Given the description of an element on the screen output the (x, y) to click on. 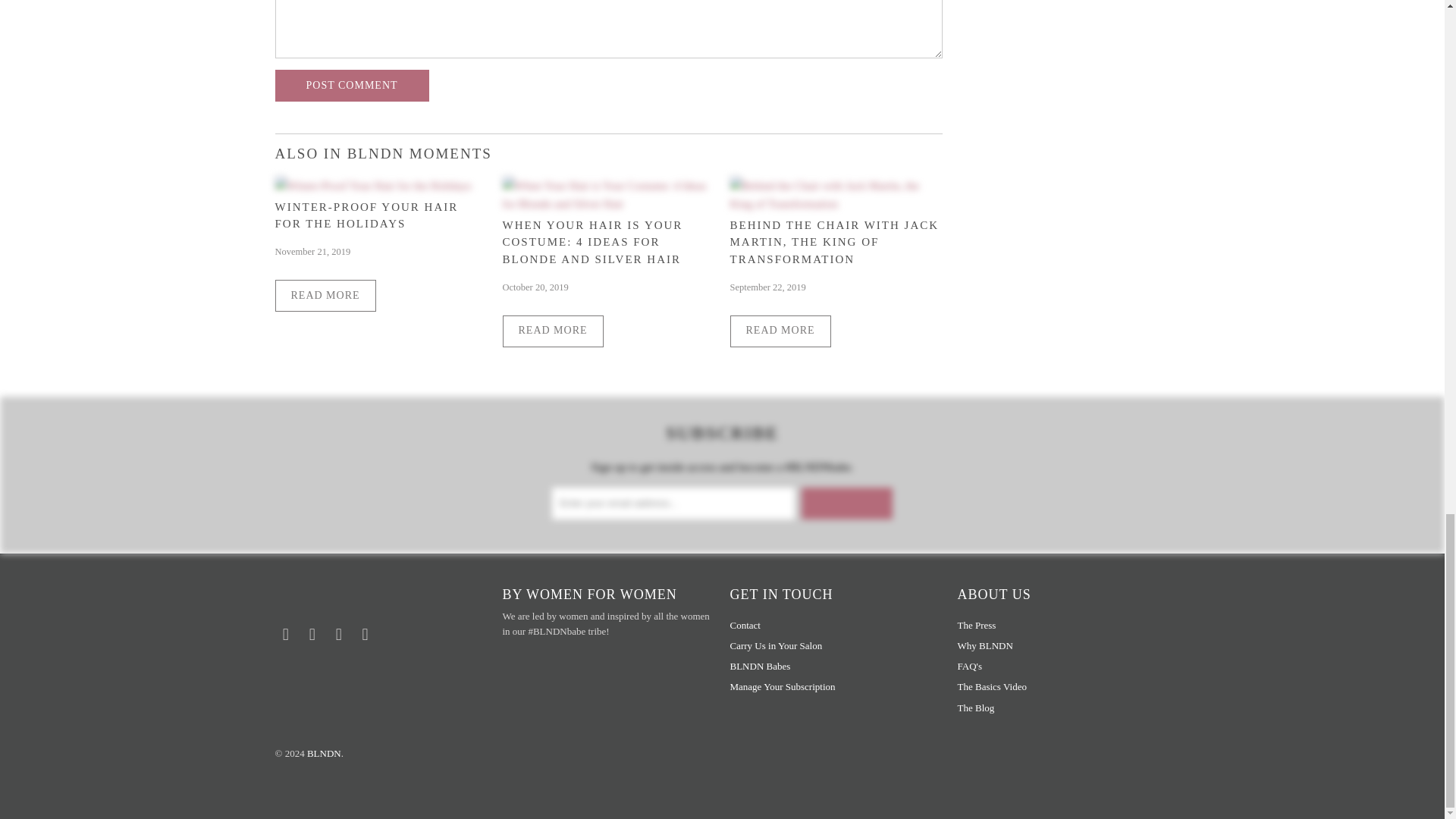
Winter-Proof Your Hair for the Holidays (372, 185)
Post comment (351, 85)
